Given the description of an element on the screen output the (x, y) to click on. 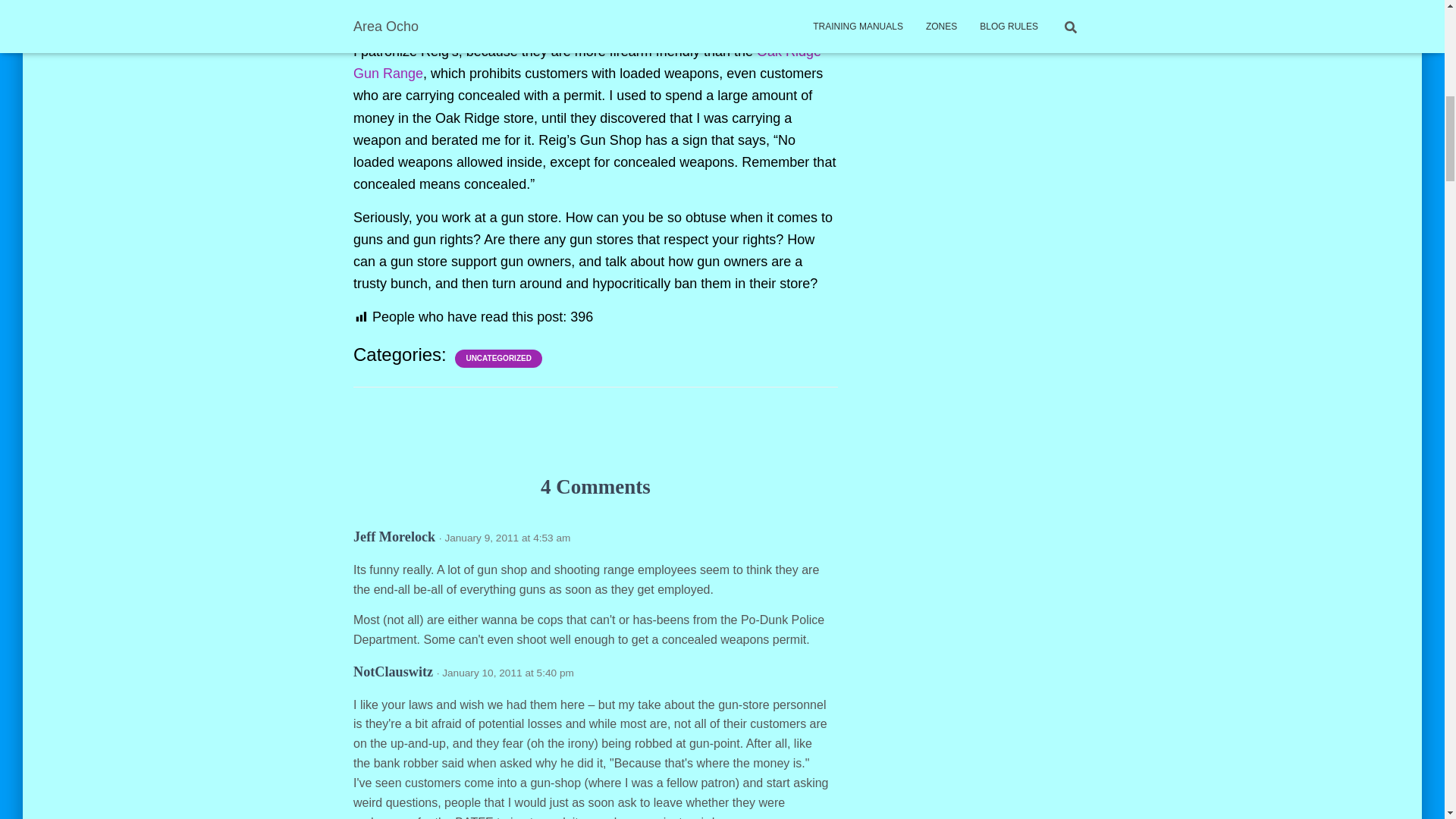
UNCATEGORIZED (498, 357)
Oak Ridge Gun Range (587, 62)
